Given the description of an element on the screen output the (x, y) to click on. 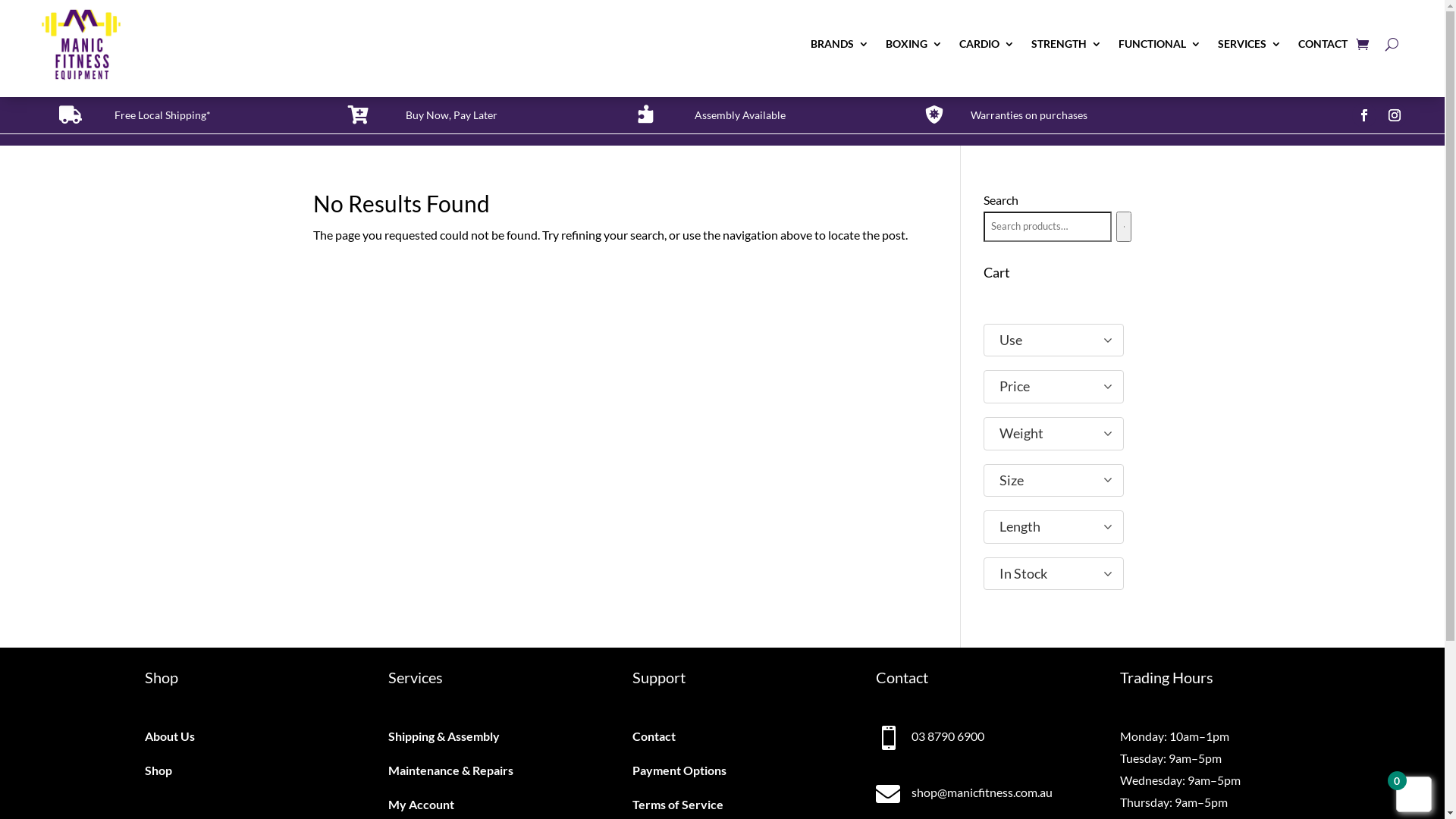
shop@manicfitness.com.au Element type: text (981, 791)
BOXING Element type: text (913, 43)
Assembly Available Element type: text (739, 114)
STRENGTH Element type: text (1066, 43)
CARDIO Element type: text (986, 43)
Maintenance & Repairs Element type: text (450, 769)
Warranties on purchases Element type: text (1028, 114)
Shop Element type: text (157, 769)
Contact Element type: text (653, 735)
About Us Element type: text (169, 735)
Shipping & Assembly Element type: text (443, 735)
Buy Now, Pay Later Element type: text (451, 114)
Payment Options Element type: text (679, 769)
Follow on Instagram Element type: hover (1394, 115)
Free Local Shipping* Element type: text (162, 114)
Follow on Facebook Element type: hover (1364, 115)
Terms of Service Element type: text (677, 804)
SERVICES Element type: text (1249, 43)
FUNCTIONAL Element type: text (1159, 43)
CONTACT Element type: text (1322, 43)
03 8790 6900 Element type: text (947, 735)
My Account Element type: text (421, 804)
BRANDS Element type: text (839, 43)
